Given the description of an element on the screen output the (x, y) to click on. 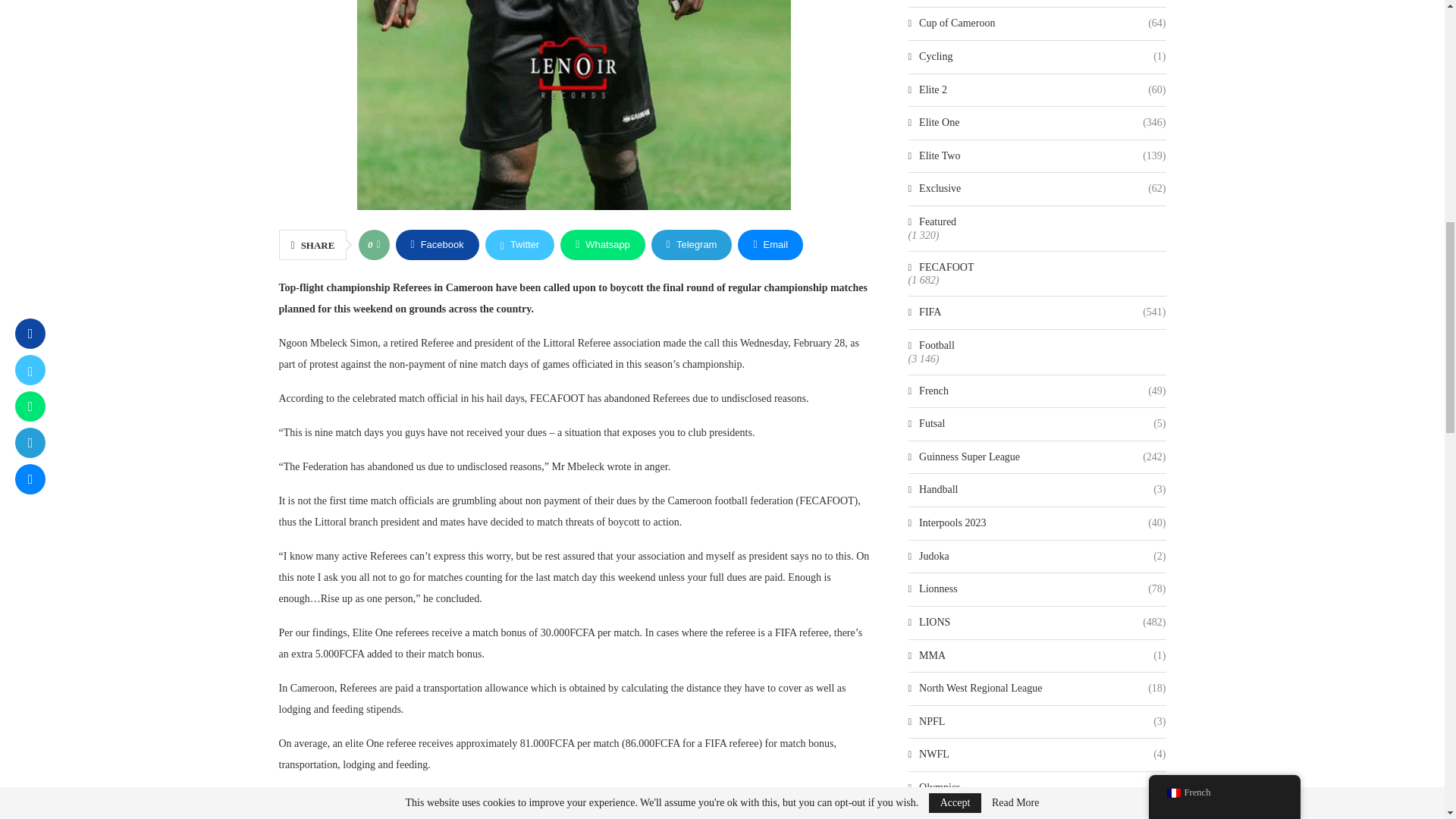
Email (770, 245)
Facebook (437, 245)
Whatsapp (602, 245)
Telegram (691, 245)
Twitter (519, 245)
